Given the description of an element on the screen output the (x, y) to click on. 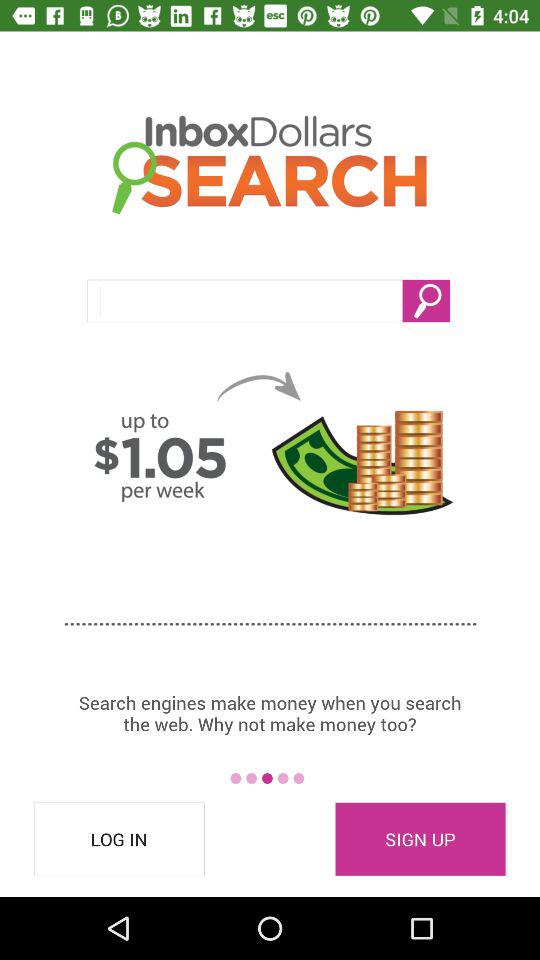
flip to sign up item (420, 839)
